Given the description of an element on the screen output the (x, y) to click on. 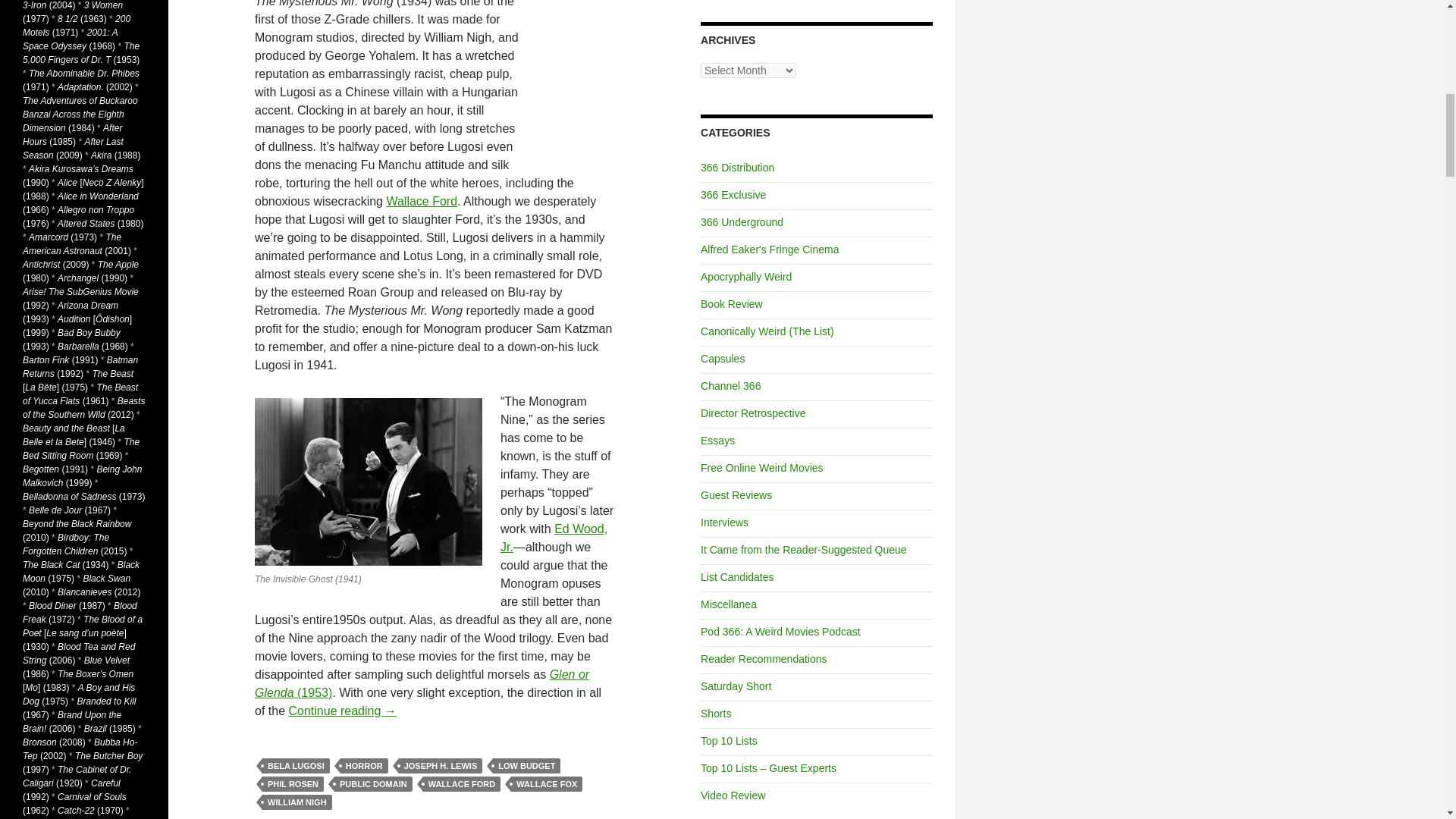
Wallace Ford (421, 201)
Ed Wood, Jr. (553, 537)
PHIL ROSEN (292, 783)
PUBLIC DOMAIN (373, 783)
Glen or Glenda certified weird entry (421, 683)
BELA LUGOSI (296, 765)
HORROR (364, 765)
WALLACE FORD (461, 783)
WALLACE FOX (546, 783)
WILLIAM NIGH (296, 801)
JOSEPH H. LEWIS (440, 765)
LOW BUDGET (526, 765)
